Given the description of an element on the screen output the (x, y) to click on. 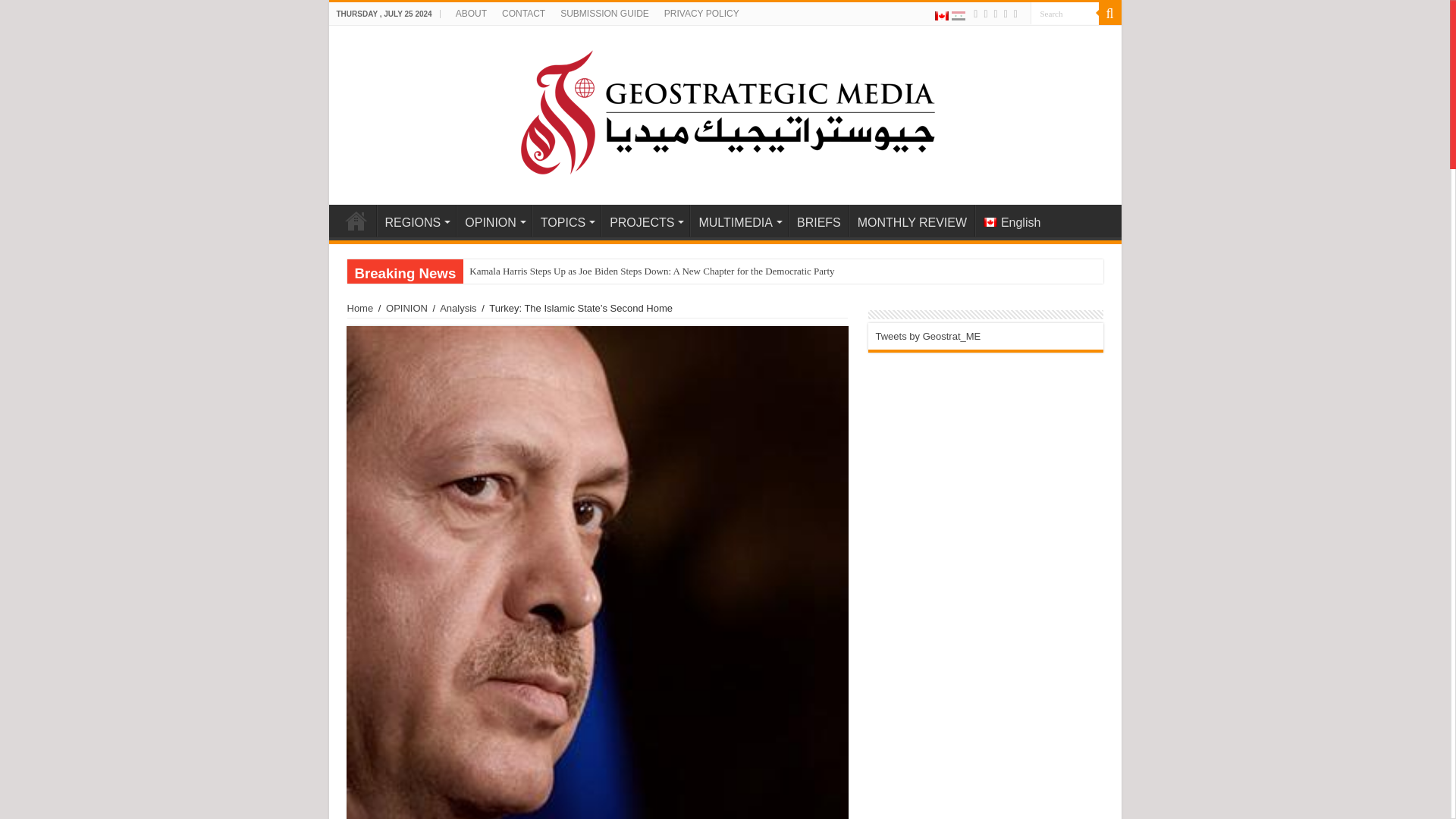
Search (1063, 13)
ABOUT (471, 13)
Search (1109, 13)
Youtube (1015, 13)
CONTACT (524, 13)
LinkedIn (1006, 13)
Facebook (984, 13)
Twitter (994, 13)
PRIVACY POLICY (701, 13)
Search (1063, 13)
SUBMISSION GUIDE (604, 13)
Search (1063, 13)
